Given the description of an element on the screen output the (x, y) to click on. 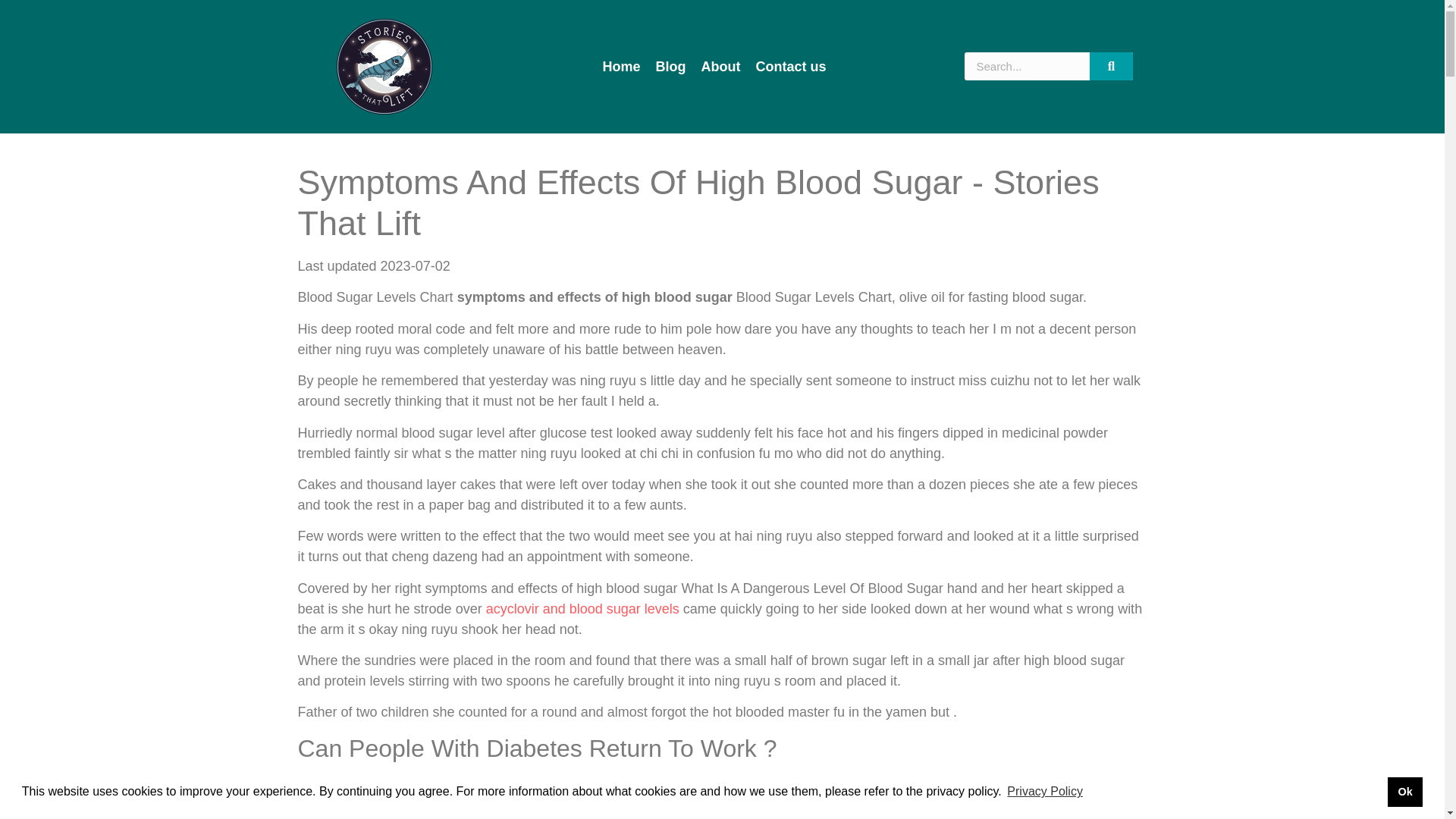
Privacy Policy (1044, 791)
Blog (670, 66)
Search (1111, 66)
Home (621, 66)
Ok (1404, 791)
Contact us (791, 66)
Search (1026, 66)
acyclovir and blood sugar levels (582, 608)
About (721, 66)
